Given the description of an element on the screen output the (x, y) to click on. 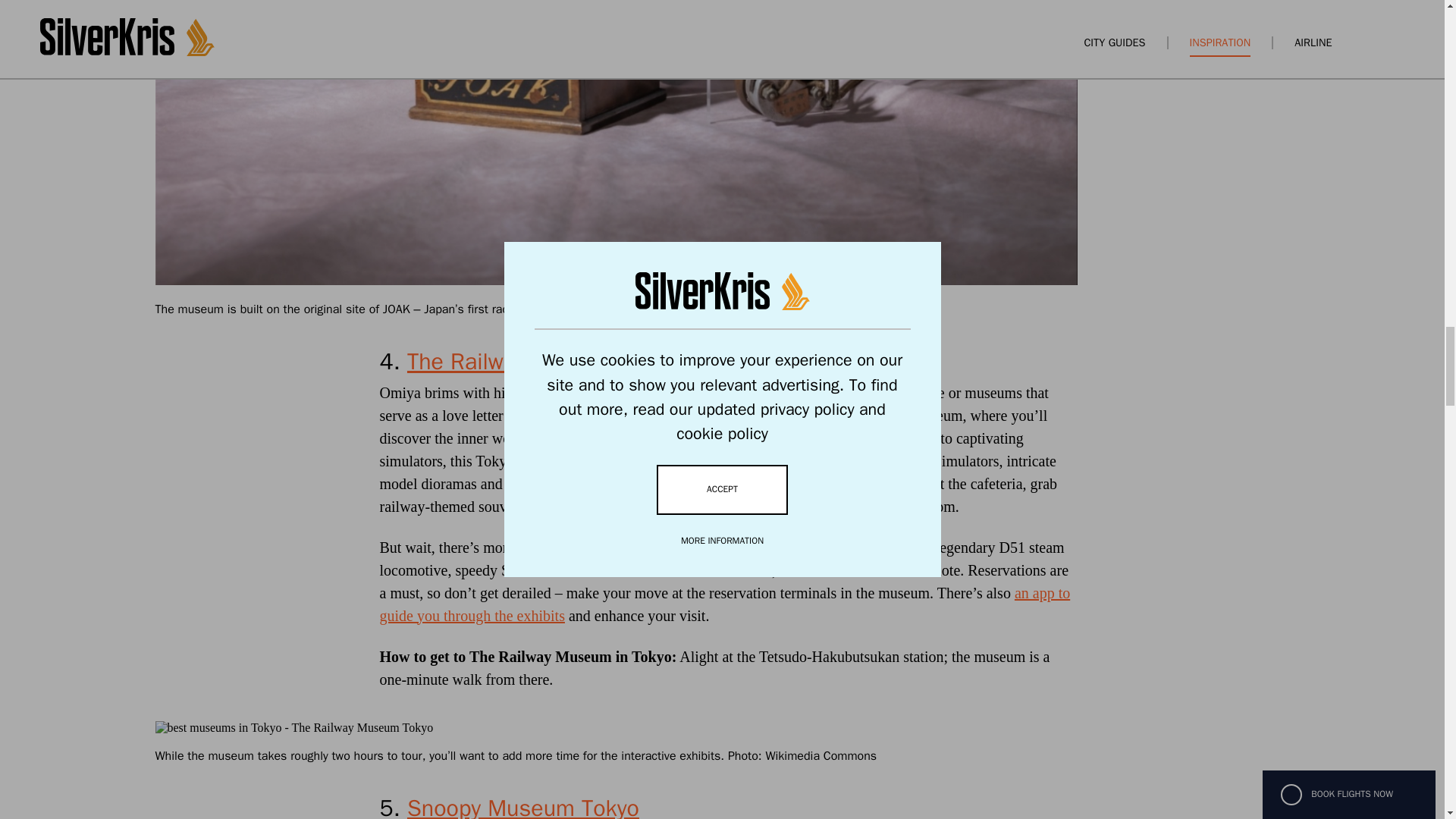
an app to guide you through the exhibits (724, 604)
Snoopy Museum Tokyo (523, 806)
The Railway Museum (513, 361)
